Given the description of an element on the screen output the (x, y) to click on. 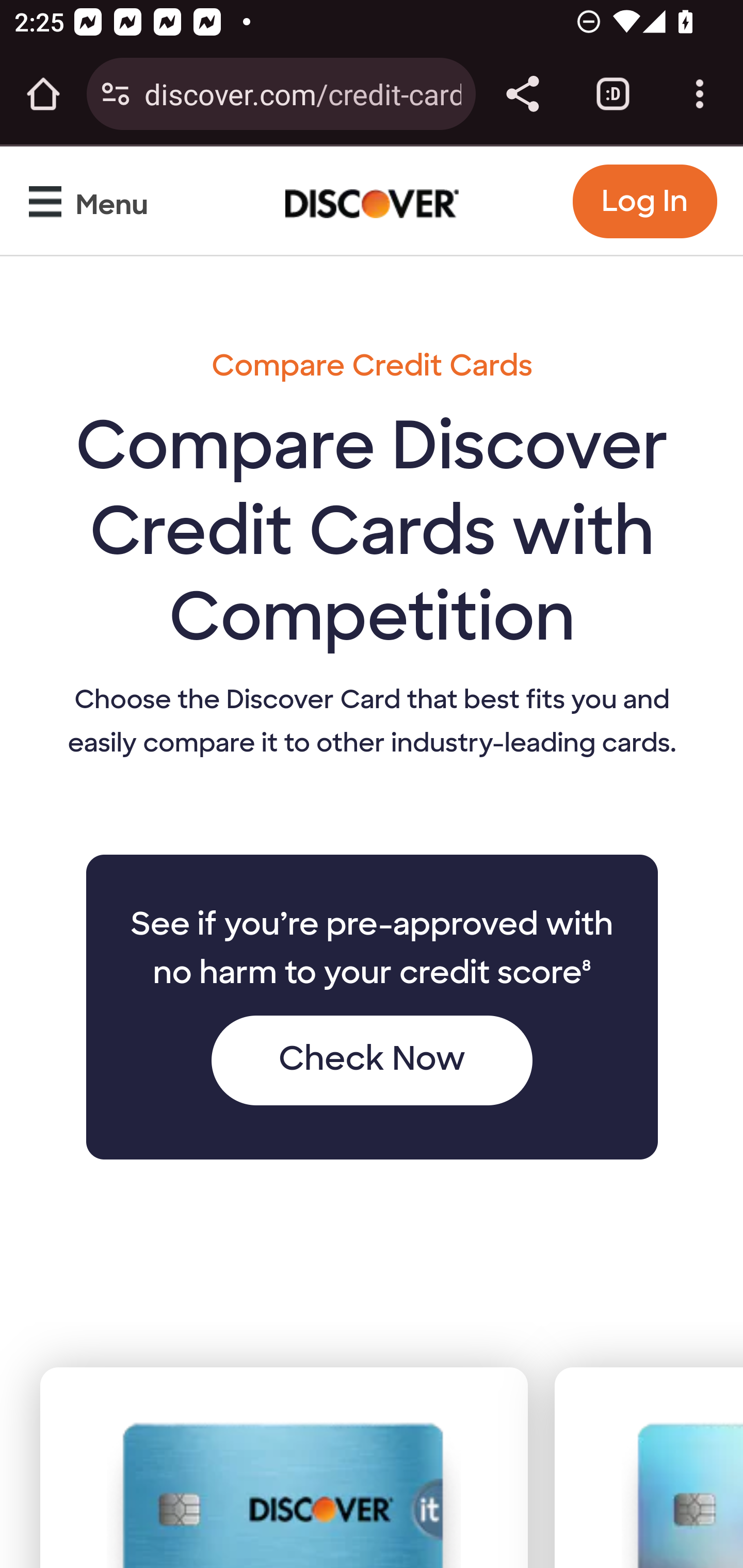
Open the home page (43, 93)
Connection is secure (115, 93)
Share (522, 93)
Switch or close tabs (612, 93)
Customize and control Google Chrome (699, 93)
discover.com/credit-cards/compare/ (302, 92)
discover logo (372, 199)
Log In Opens modal dialog (644, 201)
Menu (92, 206)
Check Now (370, 1060)
Discover it® Cashback Credit Card (284, 1494)
